Given the description of an element on the screen output the (x, y) to click on. 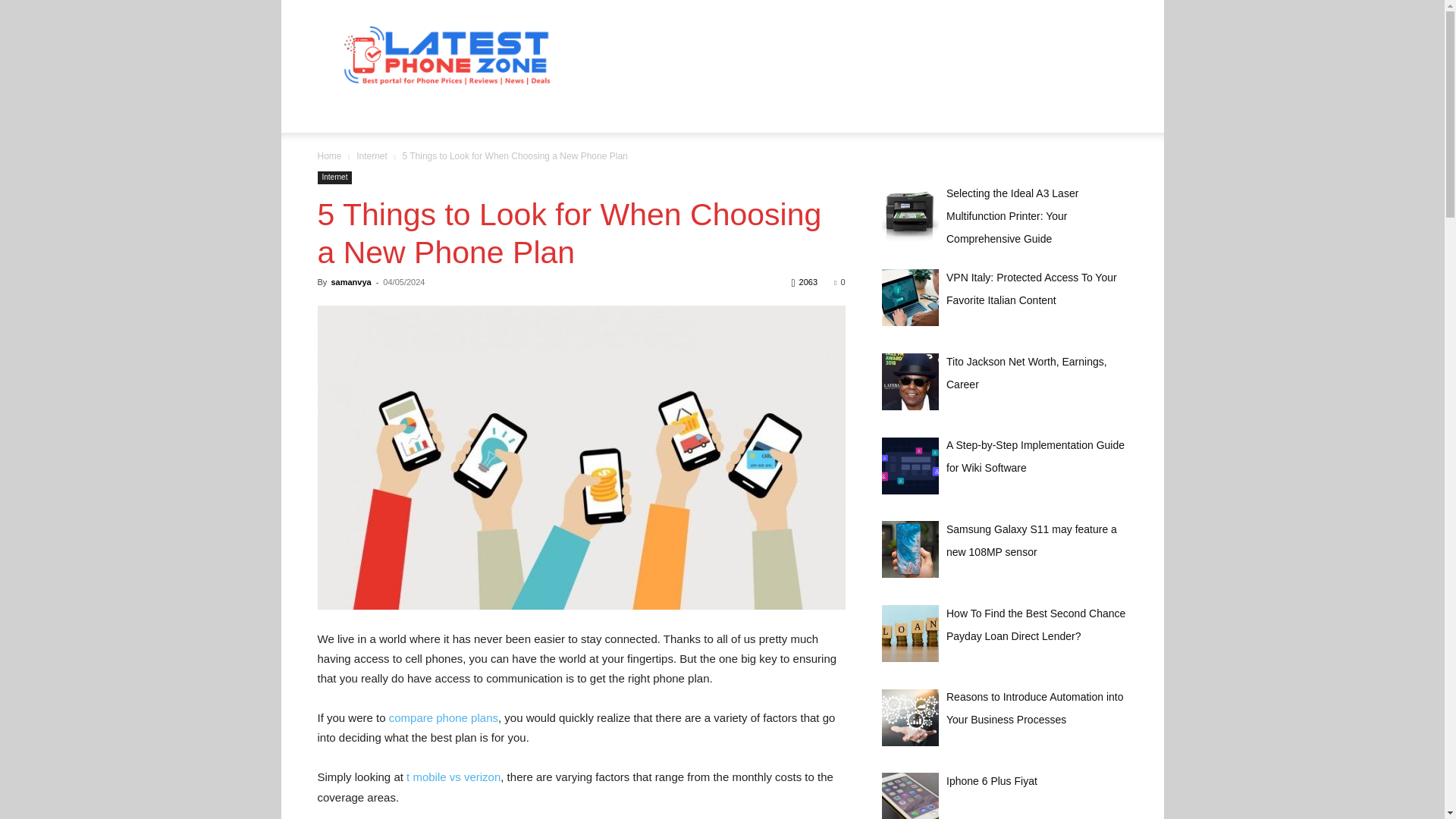
NEWS (637, 114)
samanvya (350, 281)
compare phone plans (442, 717)
BUSINESS (427, 114)
View all posts in Internet (371, 155)
0 (839, 281)
Internet (371, 155)
t mobile vs verizon (451, 776)
MOBILE (579, 114)
Home (328, 155)
Search (1085, 174)
Internet (334, 177)
EDUCATION (506, 114)
